Given the description of an element on the screen output the (x, y) to click on. 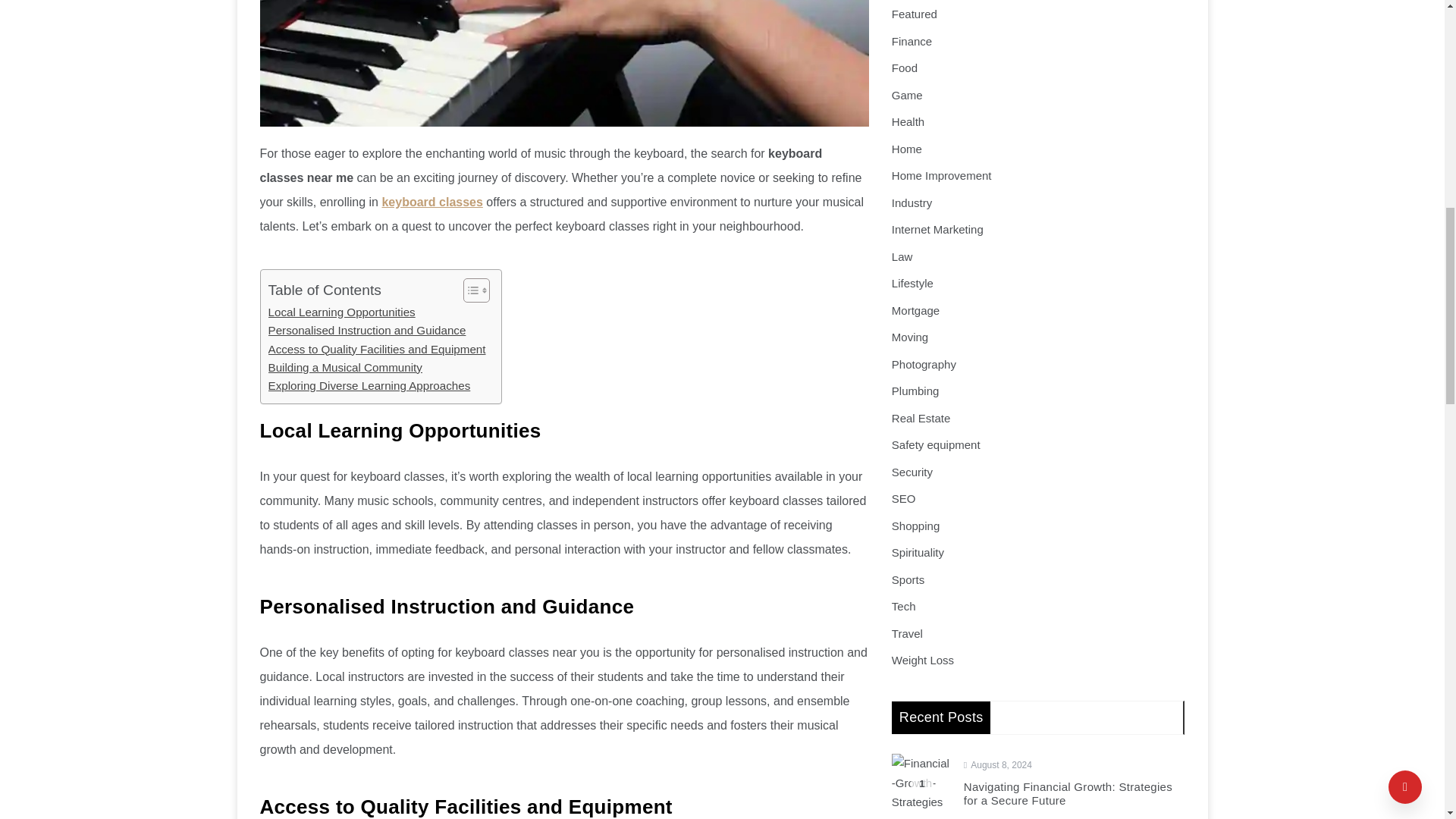
Personalised Instruction and Guidance (366, 330)
Access to Quality Facilities and Equipment (376, 349)
Local Learning Opportunities (340, 312)
Exploring Diverse Learning Approaches (368, 385)
Building a Musical Community (344, 367)
Local Learning Opportunities (340, 312)
Personalised Instruction and Guidance (366, 330)
keyboard classes (431, 201)
